Given the description of an element on the screen output the (x, y) to click on. 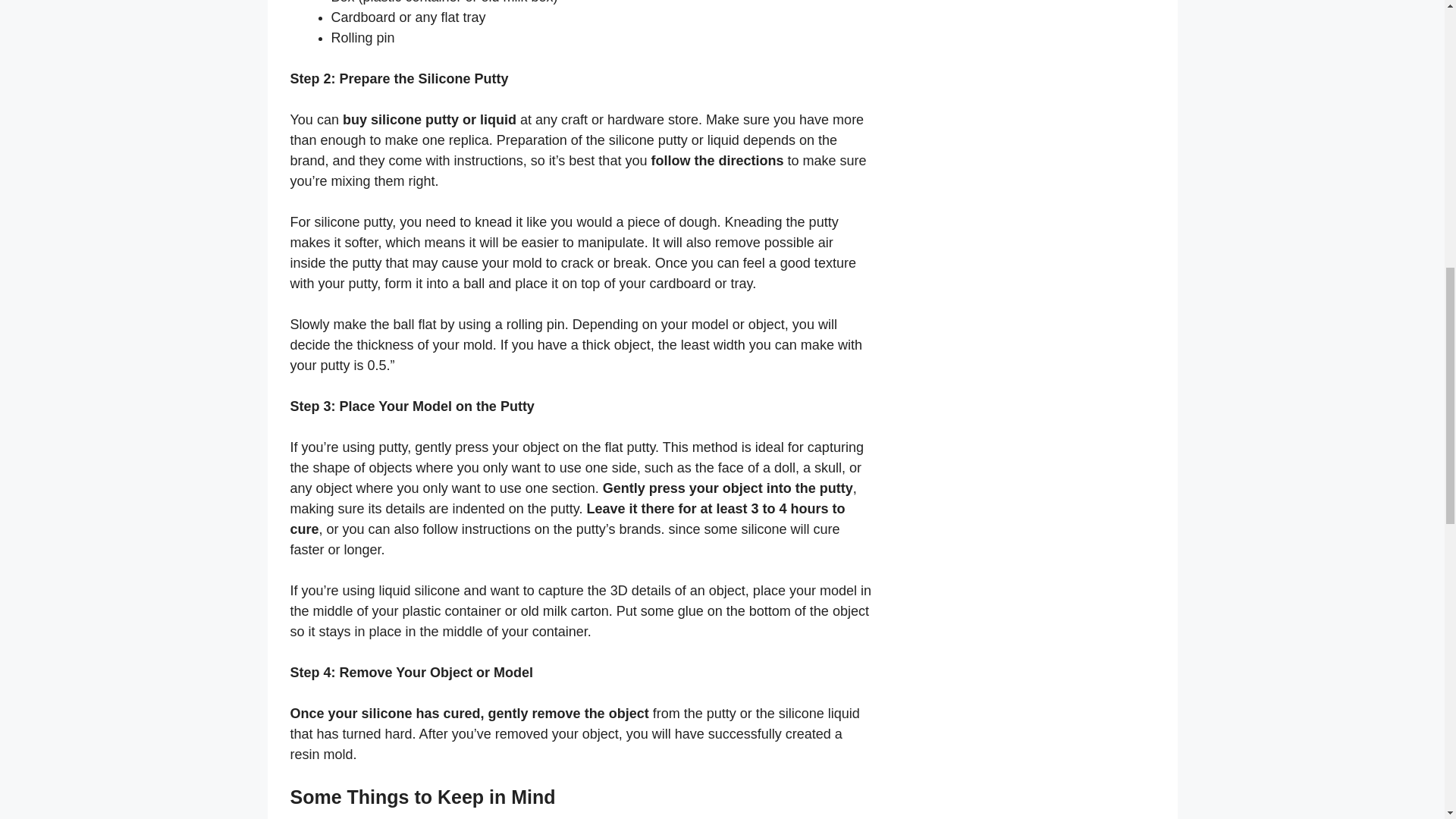
Scroll back to top (1406, 720)
